Given the description of an element on the screen output the (x, y) to click on. 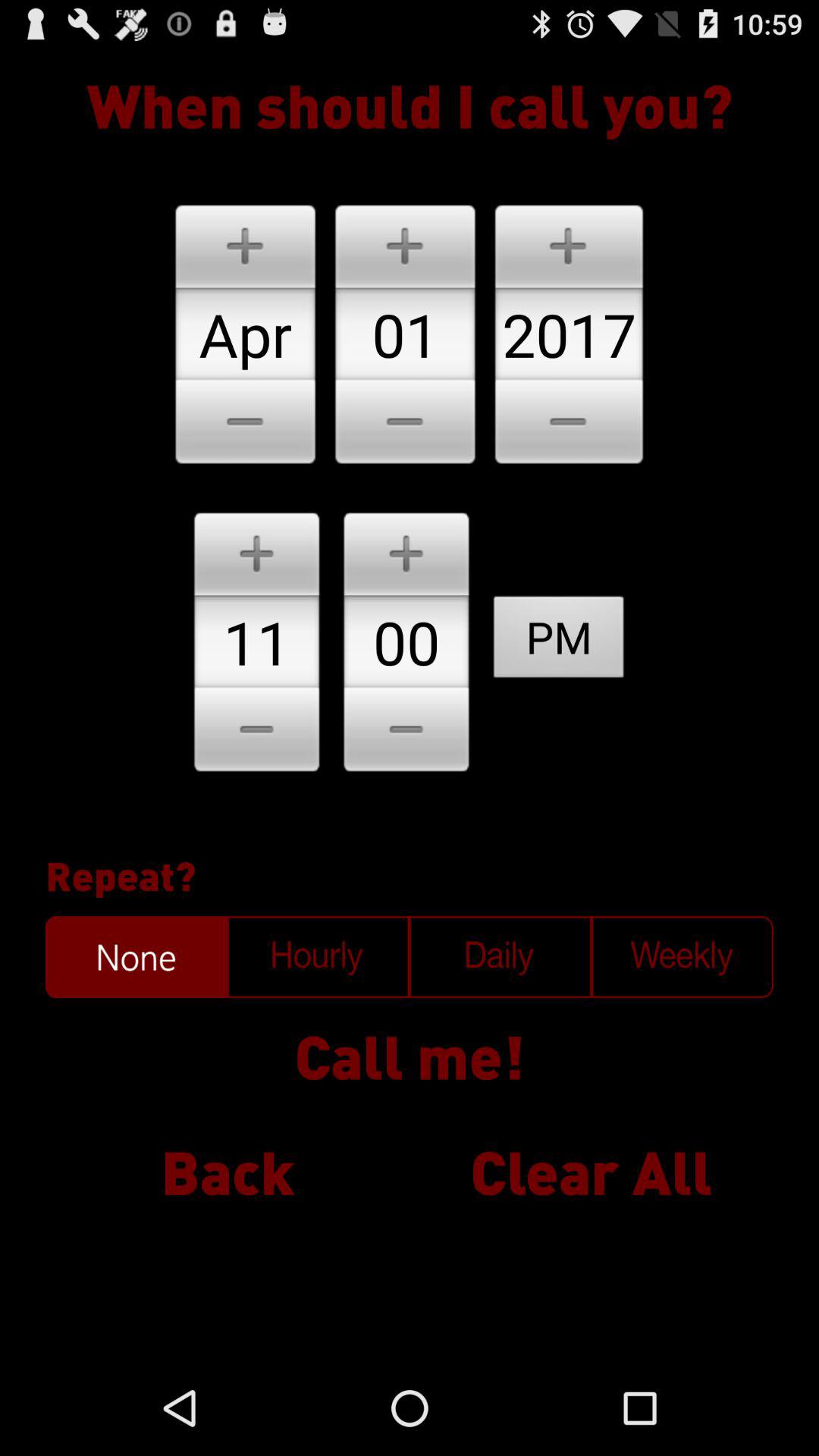
daily calls (500, 957)
